Given the description of an element on the screen output the (x, y) to click on. 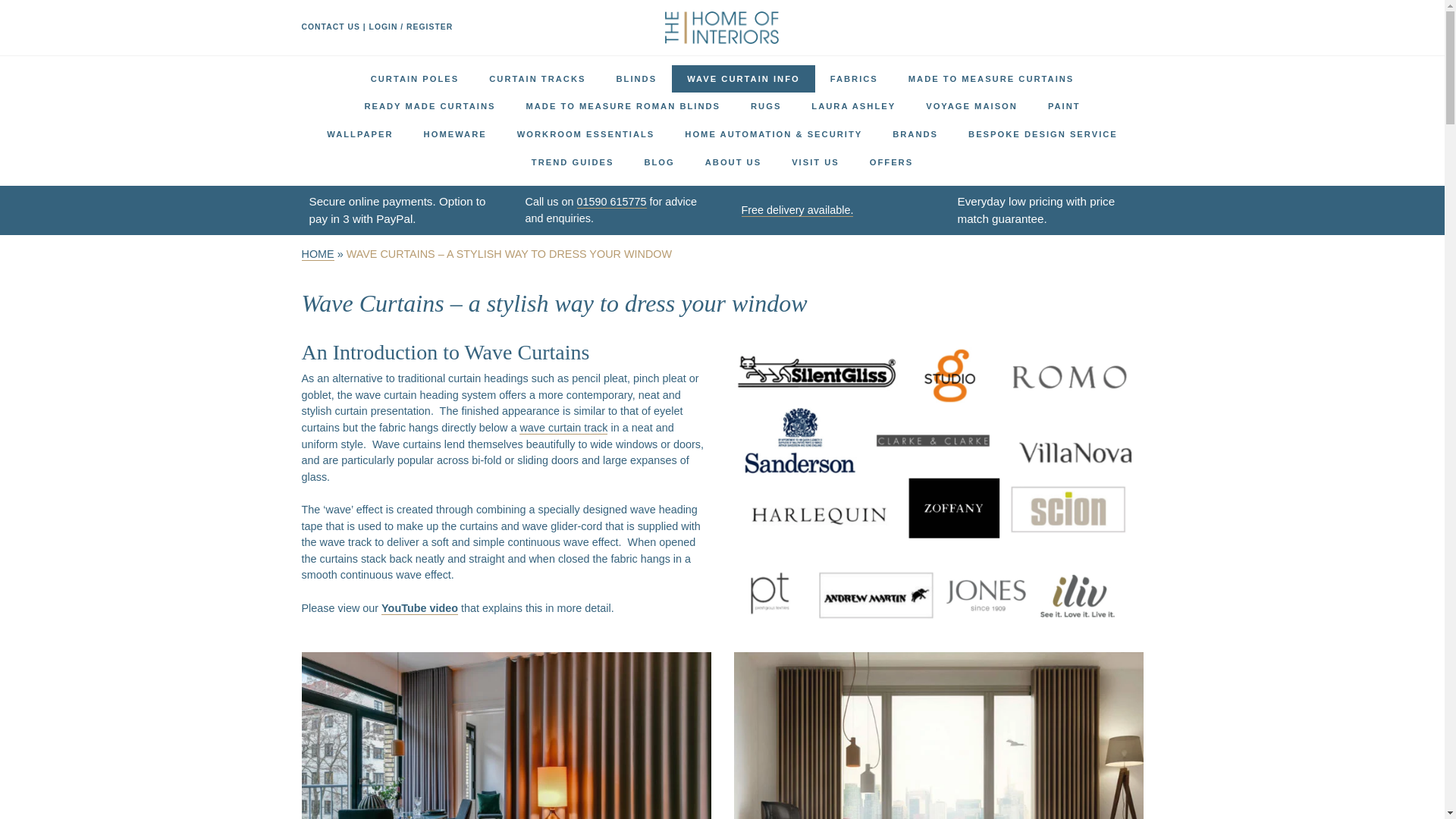
WAVE CURTAIN INFO (743, 79)
FABRICS (854, 79)
MADE TO MEASURE ROMAN BLINDS (623, 106)
BLINDS (635, 79)
CONTACT US (330, 26)
RUGS (765, 106)
CURTAIN POLES (414, 79)
READY MADE CURTAINS (430, 106)
CURTAIN TRACKS (536, 79)
MADE TO MEASURE CURTAINS (991, 79)
